Given the description of an element on the screen output the (x, y) to click on. 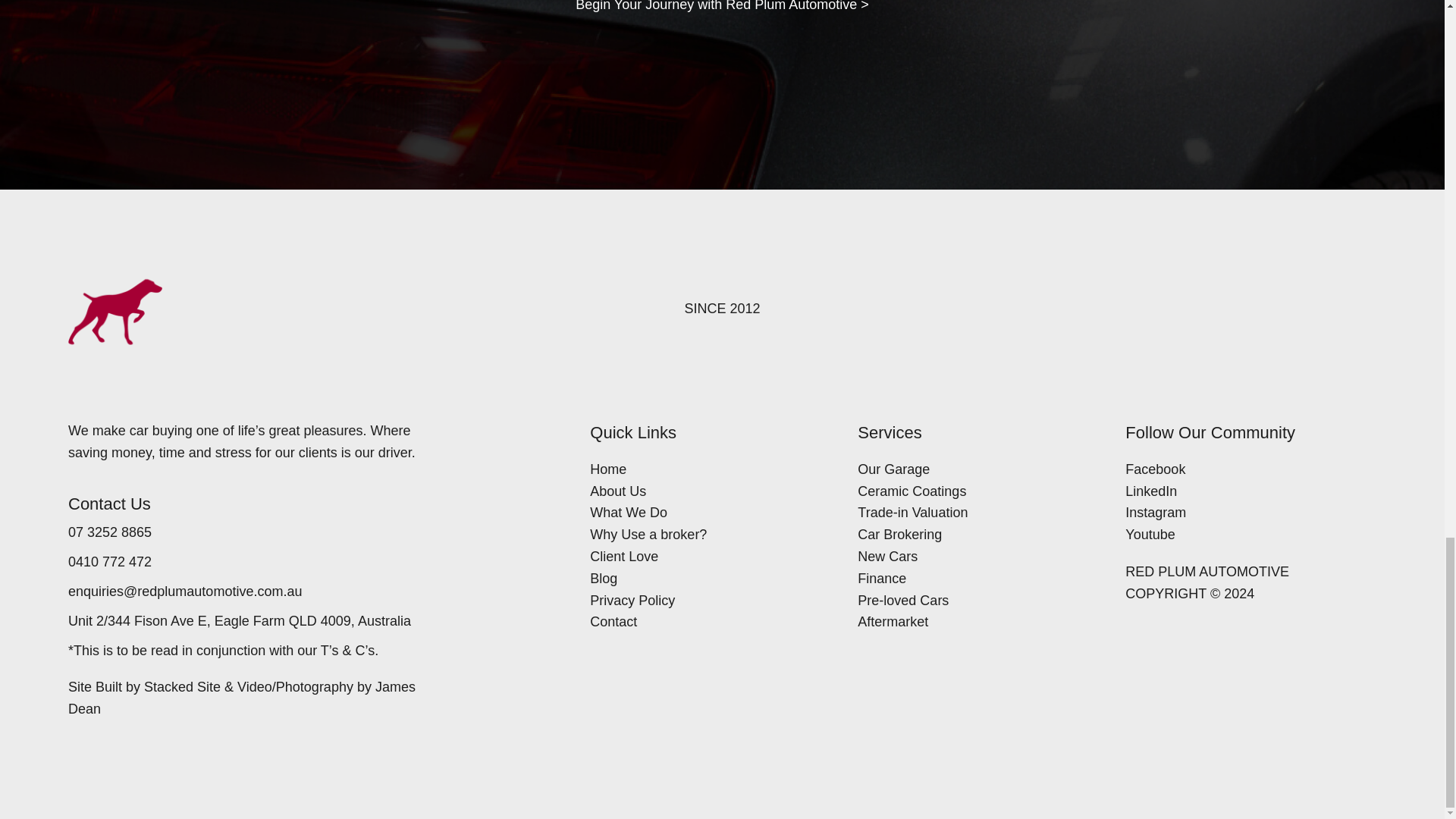
Our Garage (975, 469)
Home (708, 469)
Contact (708, 621)
James Dean (241, 697)
Why Use a broker? (708, 535)
New Cars (975, 557)
Youtube (1243, 535)
Ceramic Coatings (975, 491)
About Us (708, 491)
Privacy Policy (708, 600)
Client Love (708, 557)
Stacked Site (182, 686)
Trade-in Valuation (975, 513)
Instagram (1243, 513)
What We Do (708, 513)
